Given the description of an element on the screen output the (x, y) to click on. 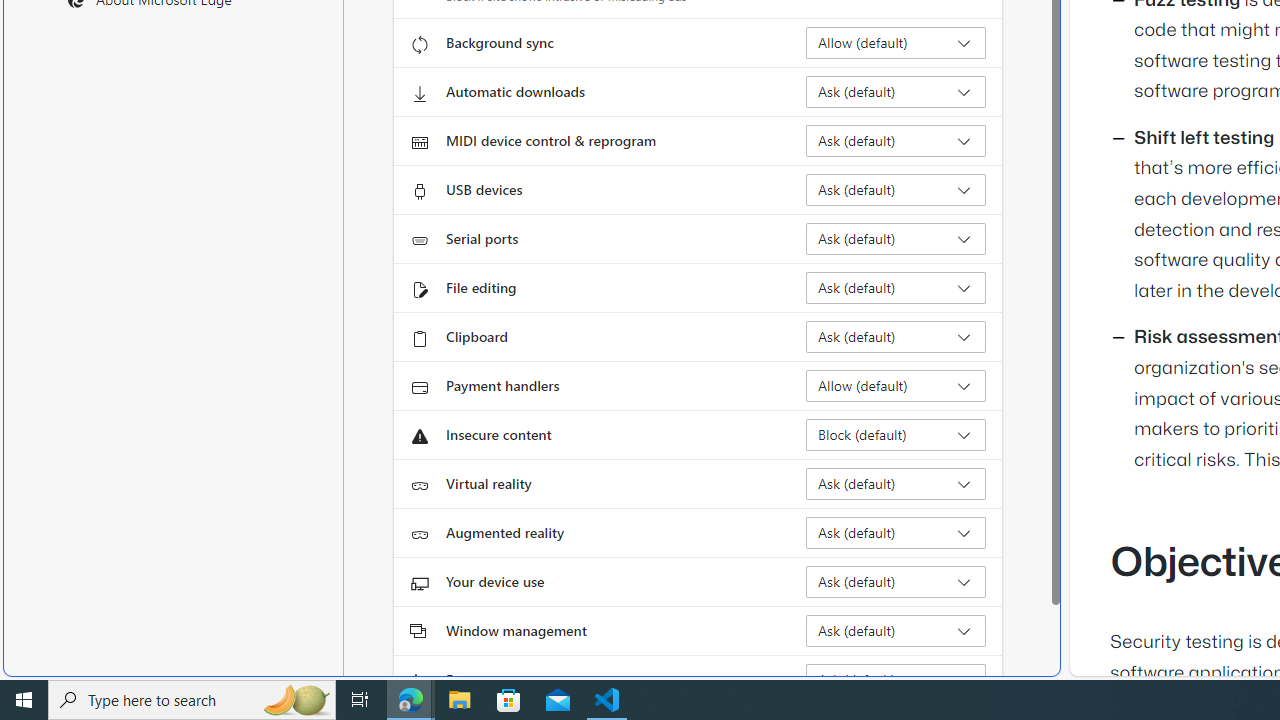
Payment handlers Allow (default) (895, 385)
Your device use Ask (default) (895, 581)
File editing Ask (default) (895, 287)
USB devices Ask (default) (895, 189)
MIDI device control & reprogram Ask (default) (895, 140)
Insecure content Block (default) (895, 434)
Augmented reality Ask (default) (895, 532)
Virtual reality Ask (default) (895, 483)
Fonts Ask (default) (895, 679)
Background sync Allow (default) (895, 43)
Serial ports Ask (default) (895, 238)
Automatic downloads Ask (default) (895, 92)
Window management Ask (default) (895, 630)
Clipboard Ask (default) (895, 336)
